Given the description of an element on the screen output the (x, y) to click on. 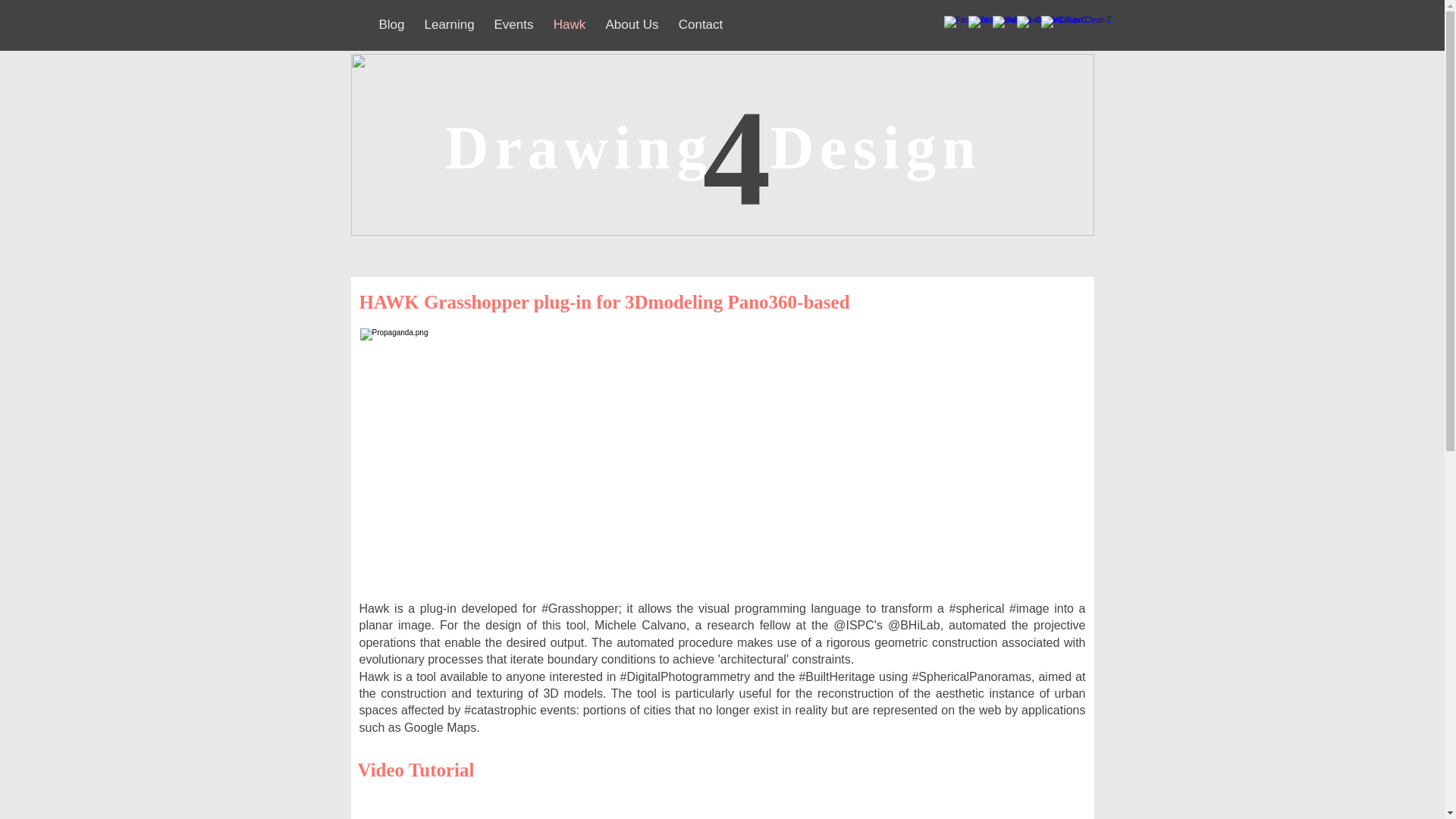
Learning (448, 23)
Events (513, 23)
Contact (700, 23)
Blog (390, 23)
About Us (631, 23)
Hawk (569, 23)
